Given the description of an element on the screen output the (x, y) to click on. 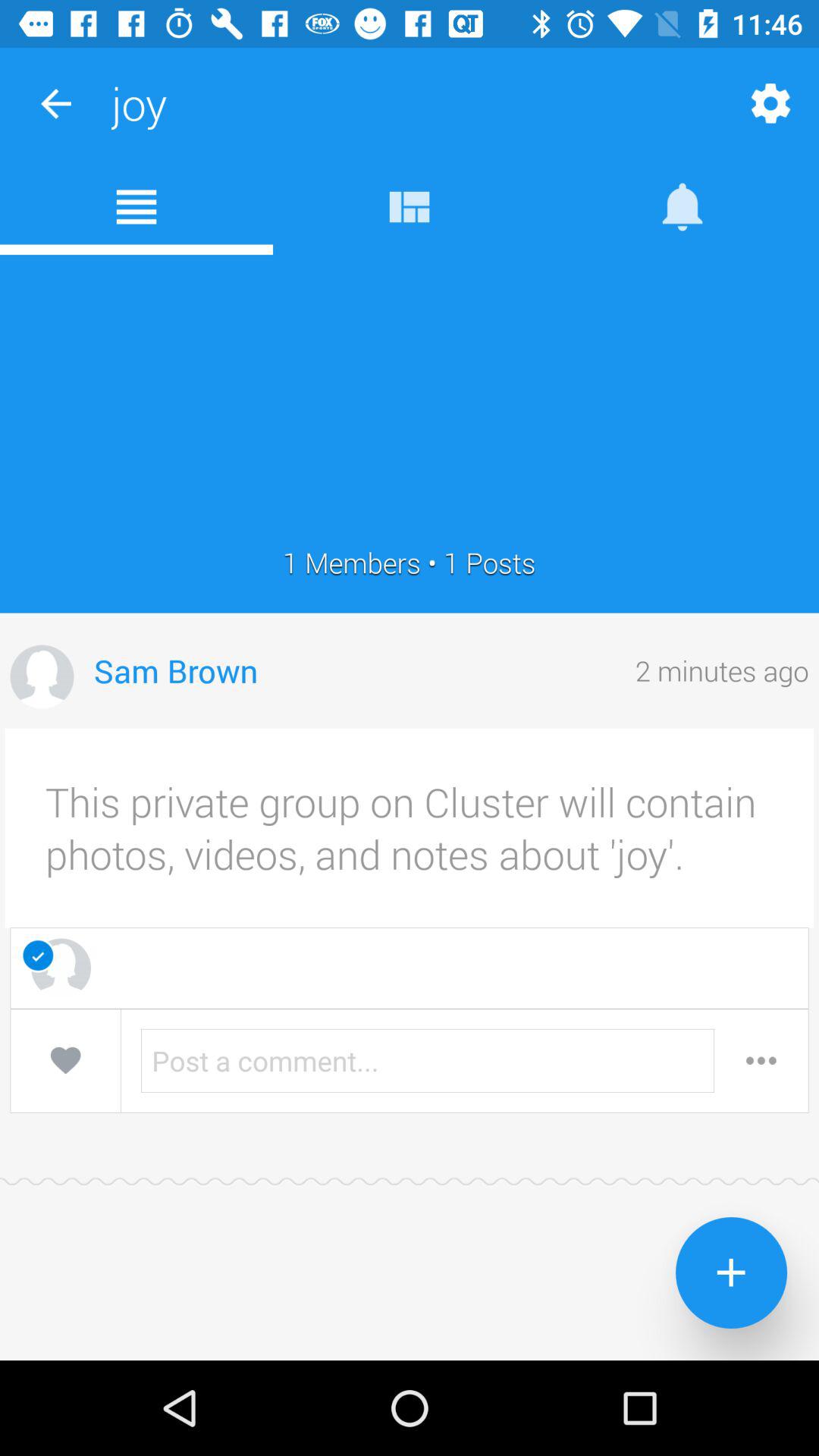
like the post (65, 1060)
